Given the description of an element on the screen output the (x, y) to click on. 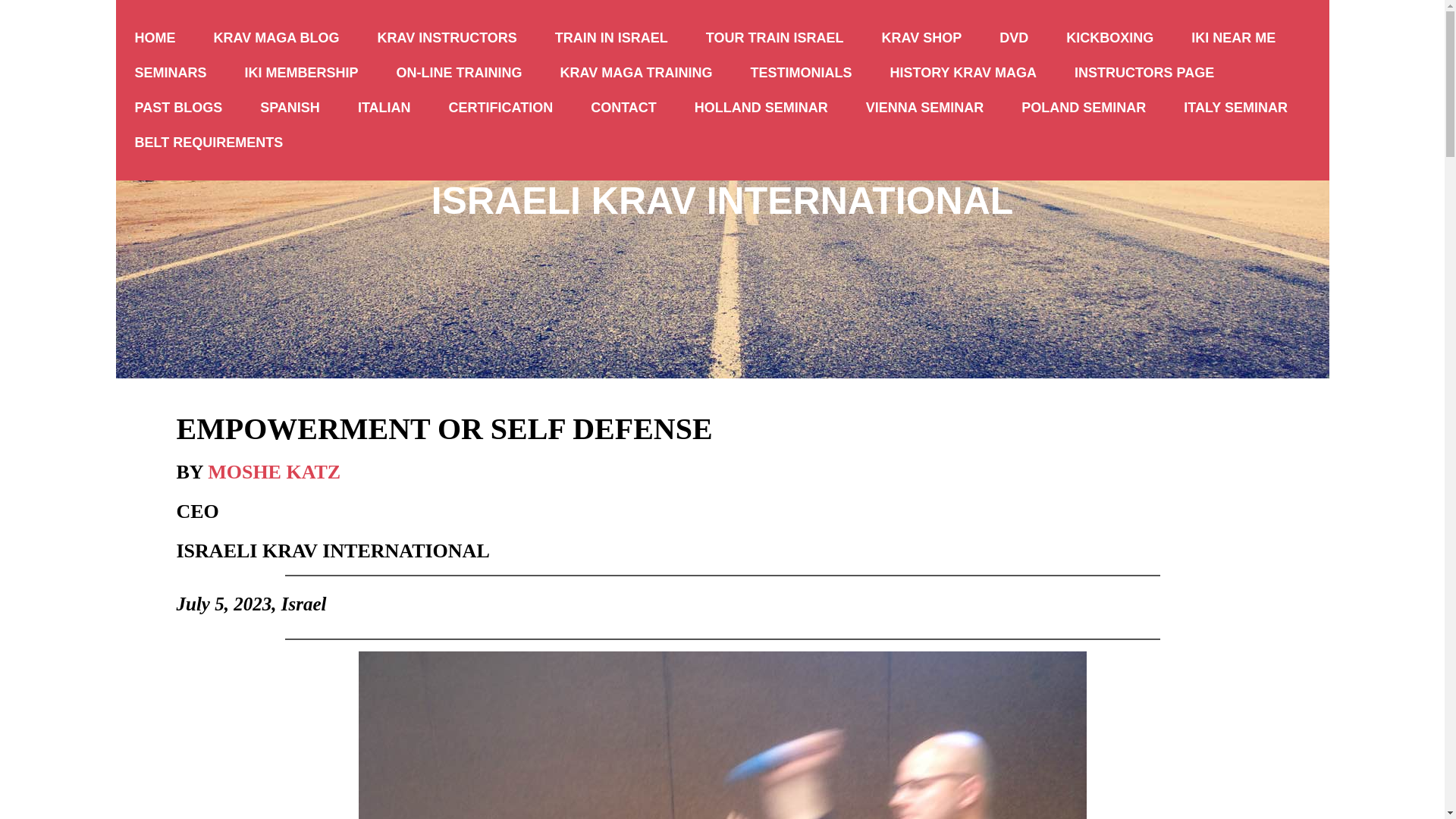
KRAV SHOP (922, 37)
SEMINARS (170, 72)
PAST BLOGS (178, 107)
HOME (154, 37)
StephanElias (722, 735)
HOLLAND SEMINAR (761, 107)
KRAV INSTRUCTORS (446, 37)
MOSHE KATZ (274, 467)
VIENNA SEMINAR (925, 107)
KRAV MAGA BLOG (275, 37)
